Given the description of an element on the screen output the (x, y) to click on. 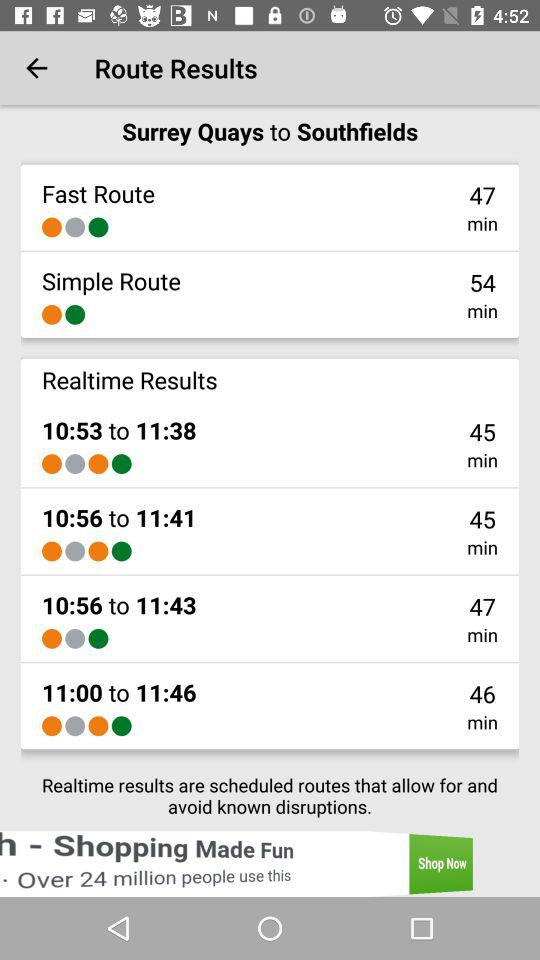
click icon below the fast route (75, 227)
